Given the description of an element on the screen output the (x, y) to click on. 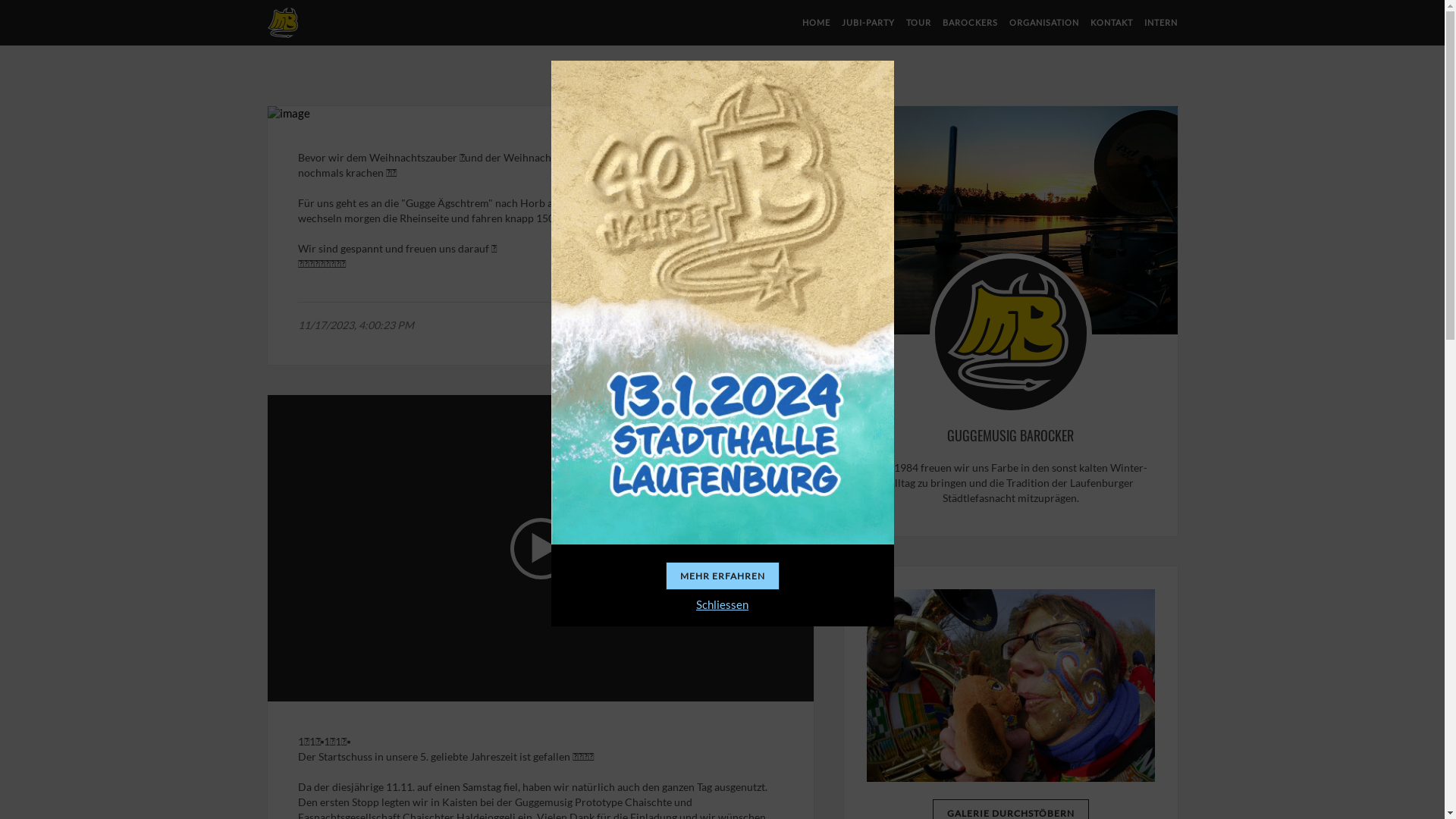
TOUR Element type: text (917, 22)
KONTAKT Element type: text (1111, 22)
MEHR ERFAHREN Element type: text (722, 575)
HOME Element type: text (816, 22)
BAROCKERS Element type: text (969, 22)
ORGANISATION Element type: text (1043, 22)
f Element type: text (770, 325)
Schliessen Element type: text (721, 604)
JUBI-PARTY Element type: text (867, 22)
INTERN Element type: text (1159, 22)
